Given the description of an element on the screen output the (x, y) to click on. 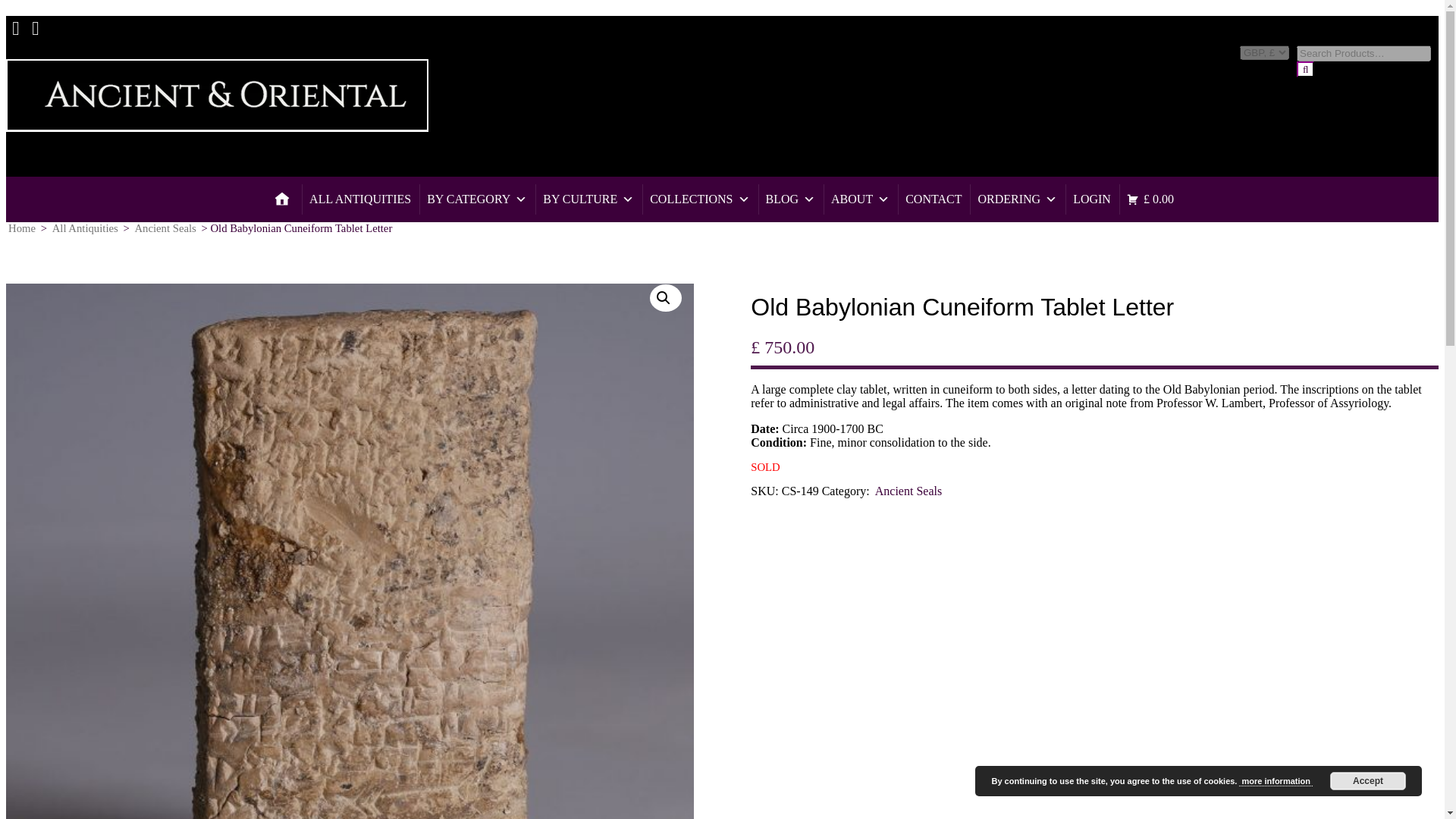
fa fa-home (282, 199)
BY CATEGORY (476, 199)
ALL ANTIQUITIES (360, 199)
instagram (35, 21)
facebook (15, 21)
